Given the description of an element on the screen output the (x, y) to click on. 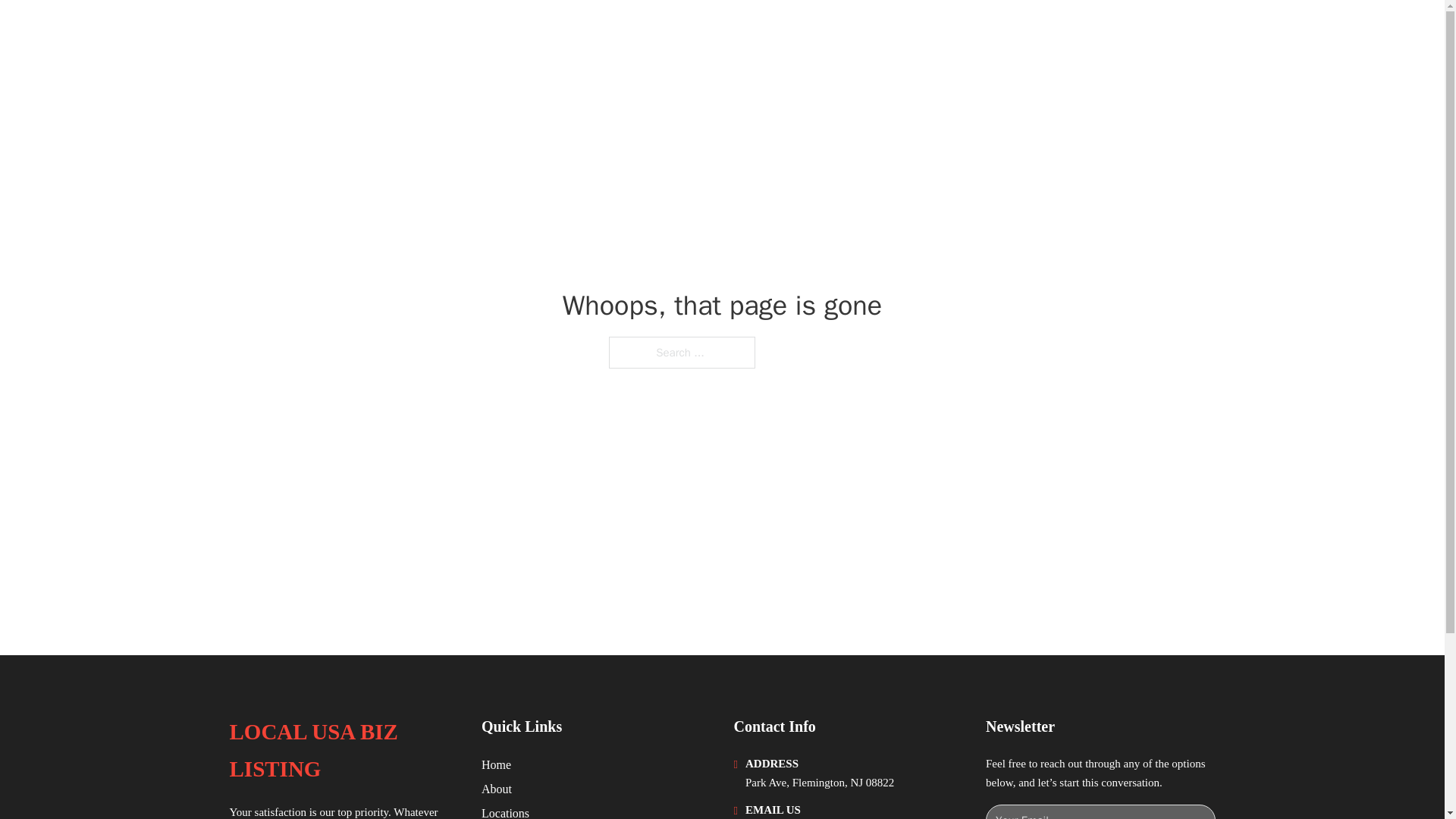
Home (496, 764)
LOCATIONS (1098, 31)
LOCAL USA BIZ LISTING (343, 750)
HOME (1025, 31)
About (496, 788)
LOCAL USA BIZ LISTING (375, 31)
Locations (505, 811)
